Given the description of an element on the screen output the (x, y) to click on. 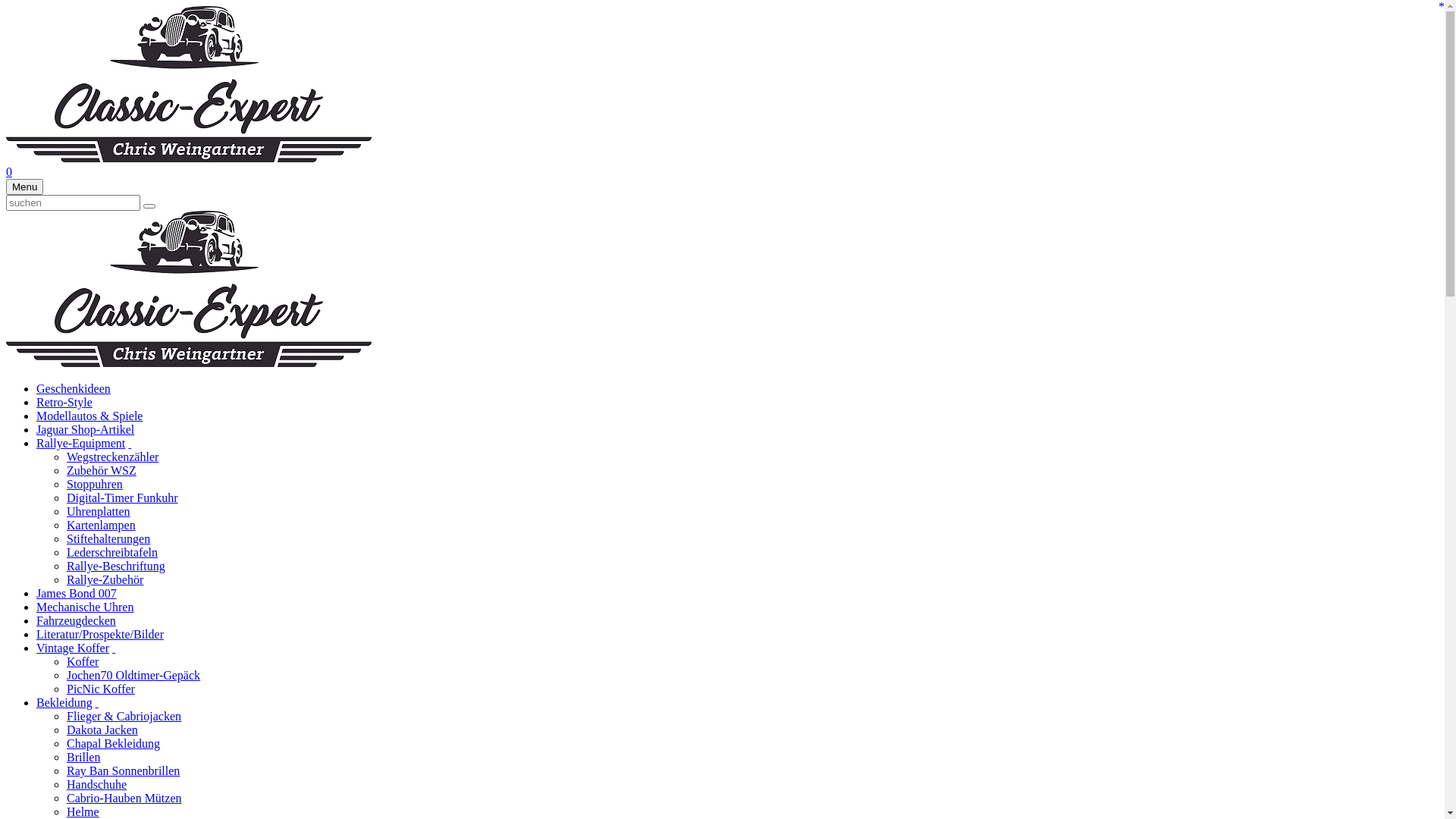
Stiftehalterungen Element type: text (108, 538)
Retro-Style Element type: text (64, 401)
Brillen Element type: text (83, 756)
Flieger & Cabriojacken Element type: text (123, 715)
Uhrenplatten Element type: text (98, 511)
Geschenkideen Element type: text (73, 388)
Digital-Timer Funkuhr Element type: text (122, 497)
Jaguar Shop-Artikel Element type: text (85, 429)
Helme Element type: text (82, 811)
Chapal Bekleidung Element type: text (113, 743)
  Element type: text (129, 442)
Lederschreibtafeln Element type: text (111, 552)
Mechanische Uhren Element type: text (84, 606)
James Bond 007 Element type: text (76, 592)
Stoppuhren Element type: text (94, 483)
Koffer Element type: text (82, 661)
  Element type: text (96, 702)
Handschuhe Element type: text (96, 784)
Ray Ban Sonnenbrillen Element type: text (122, 770)
Kartenlampen Element type: text (100, 524)
Menu Element type: text (24, 186)
Rallye-Beschriftung Element type: text (115, 565)
  Element type: text (113, 647)
Rallye-Equipment Element type: text (80, 442)
Literatur/Prospekte/Bilder Element type: text (99, 633)
PicNic Koffer Element type: text (100, 688)
Modellautos & Spiele Element type: text (89, 415)
Vintage Koffer Element type: text (72, 647)
Bekleidung Element type: text (64, 702)
Fahrzeugdecken Element type: text (76, 620)
0 Element type: text (9, 171)
Dakota Jacken Element type: text (102, 729)
* Element type: text (1441, 6)
